Given the description of an element on the screen output the (x, y) to click on. 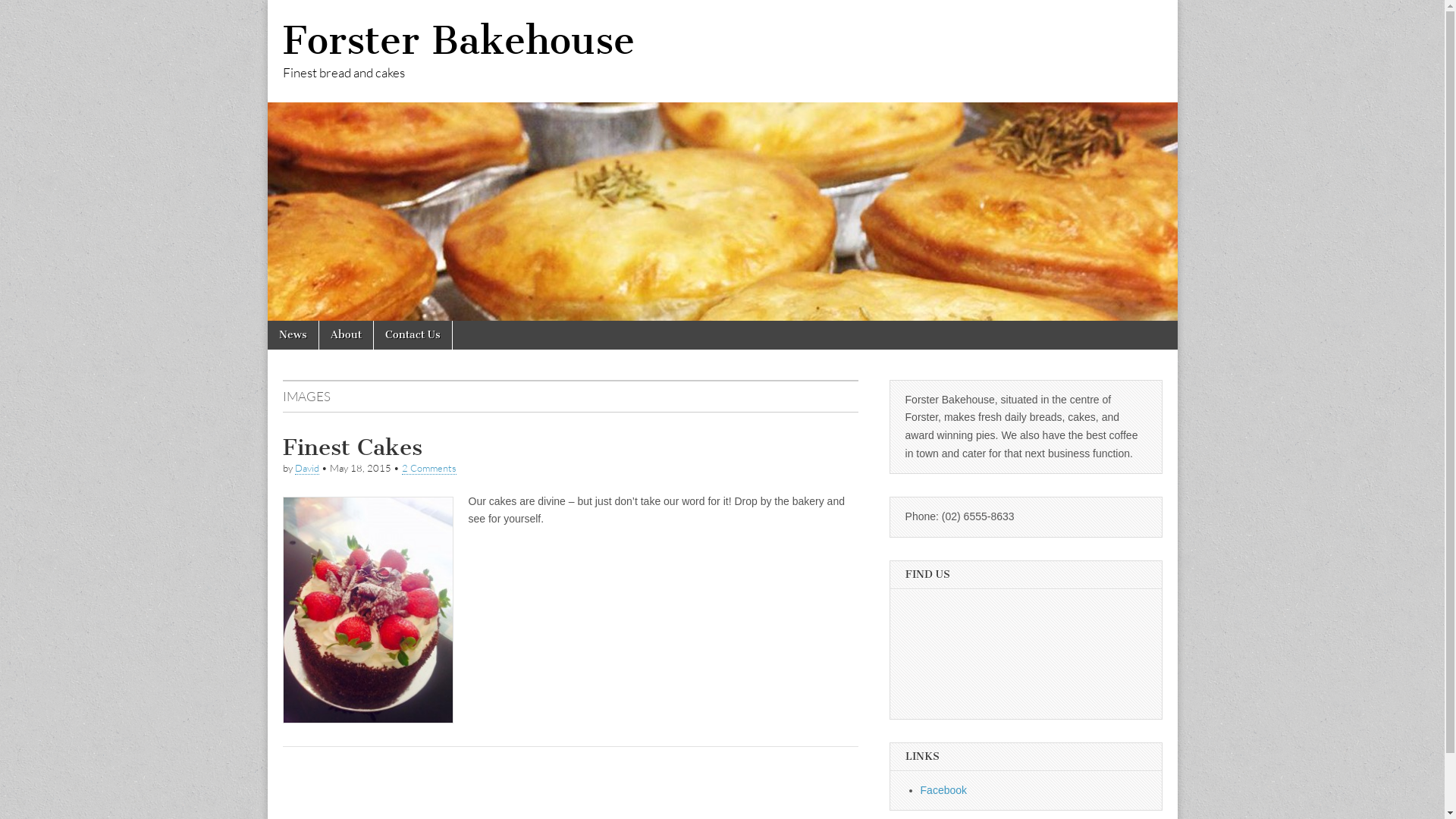
Finest Cakes Element type: text (351, 447)
Forster Bakehouse Element type: text (457, 40)
Facebook Element type: text (943, 790)
News Element type: text (291, 334)
Skip to content Element type: text (266, 320)
David Element type: text (306, 467)
About Element type: text (345, 334)
2 Comments Element type: text (428, 467)
Forster Bakehouse Element type: hover (721, 160)
Contact Us Element type: text (412, 334)
